Given the description of an element on the screen output the (x, y) to click on. 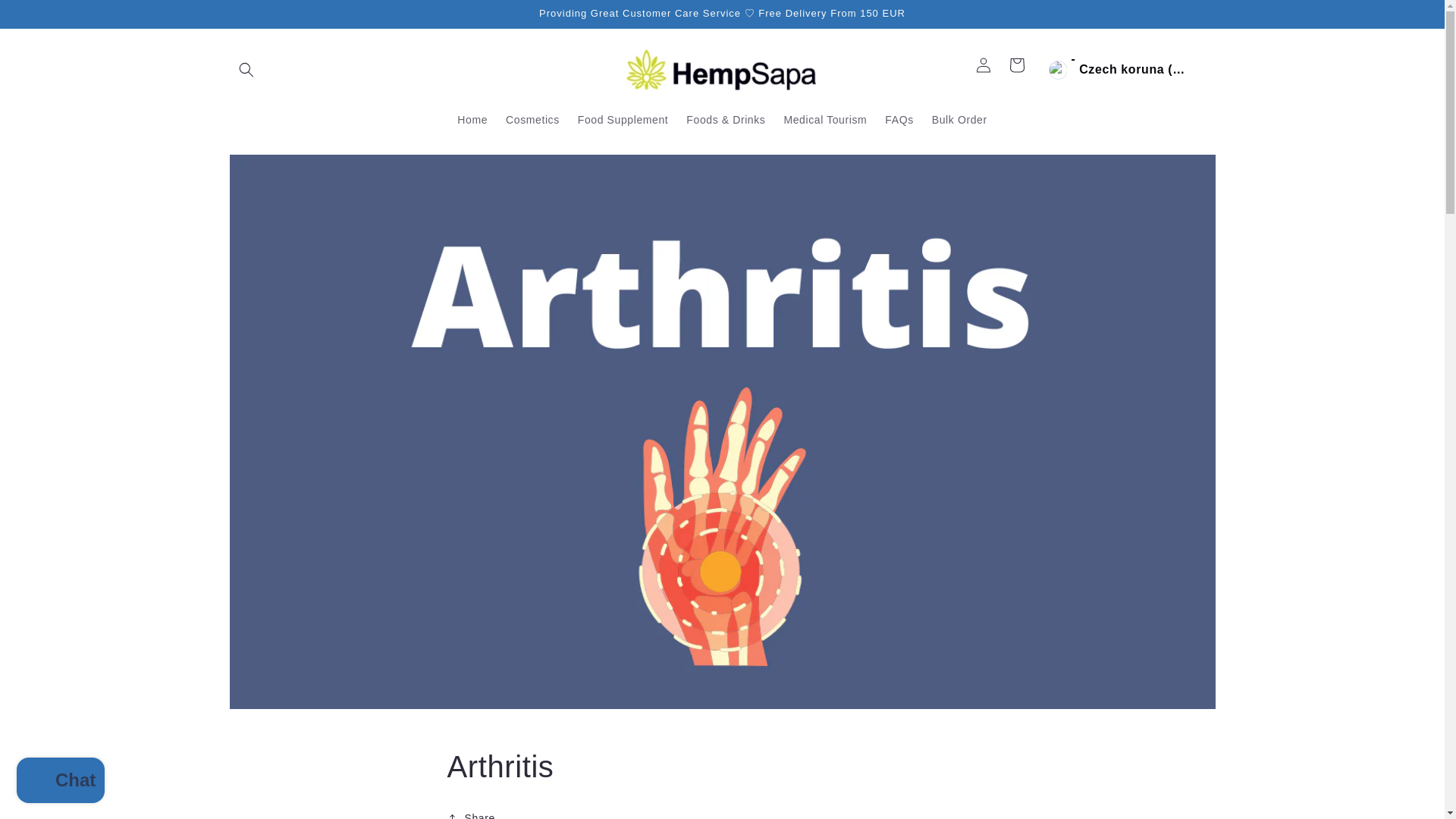
Cart (1016, 64)
Shopify online store chat (60, 781)
Skip to content (45, 17)
Medical Tourism (825, 119)
Home (472, 119)
Cosmetics (532, 119)
Log in (984, 64)
Bulk Order (959, 119)
Food Supplement (623, 119)
FAQs (898, 119)
